Given the description of an element on the screen output the (x, y) to click on. 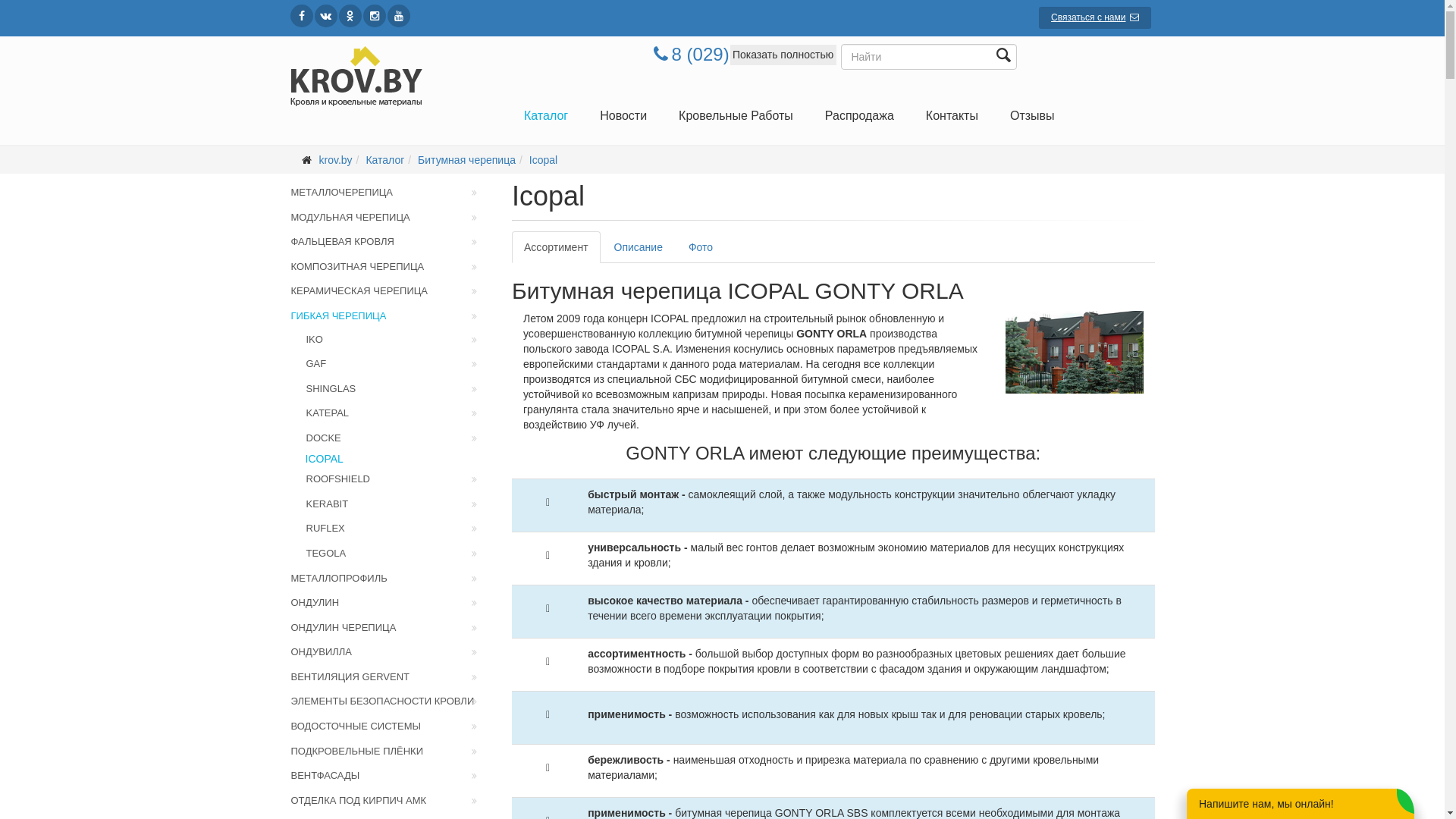
IKO Element type: text (396, 339)
DOCKE Element type: text (396, 438)
Icopal Element type: text (543, 159)
GAF Element type: text (396, 364)
8 (029) 167-70-70 Element type: text (731, 53)
ROOFSHIELD Element type: text (396, 479)
RUFLEX Element type: text (396, 528)
KERABIT Element type: text (396, 504)
krov.by Element type: text (334, 159)
KATEPAL Element type: text (396, 413)
TEGOLA Element type: text (396, 553)
GONTY ORLA Element type: hover (1074, 351)
SHINGLAS Element type: text (396, 389)
